Given the description of an element on the screen output the (x, y) to click on. 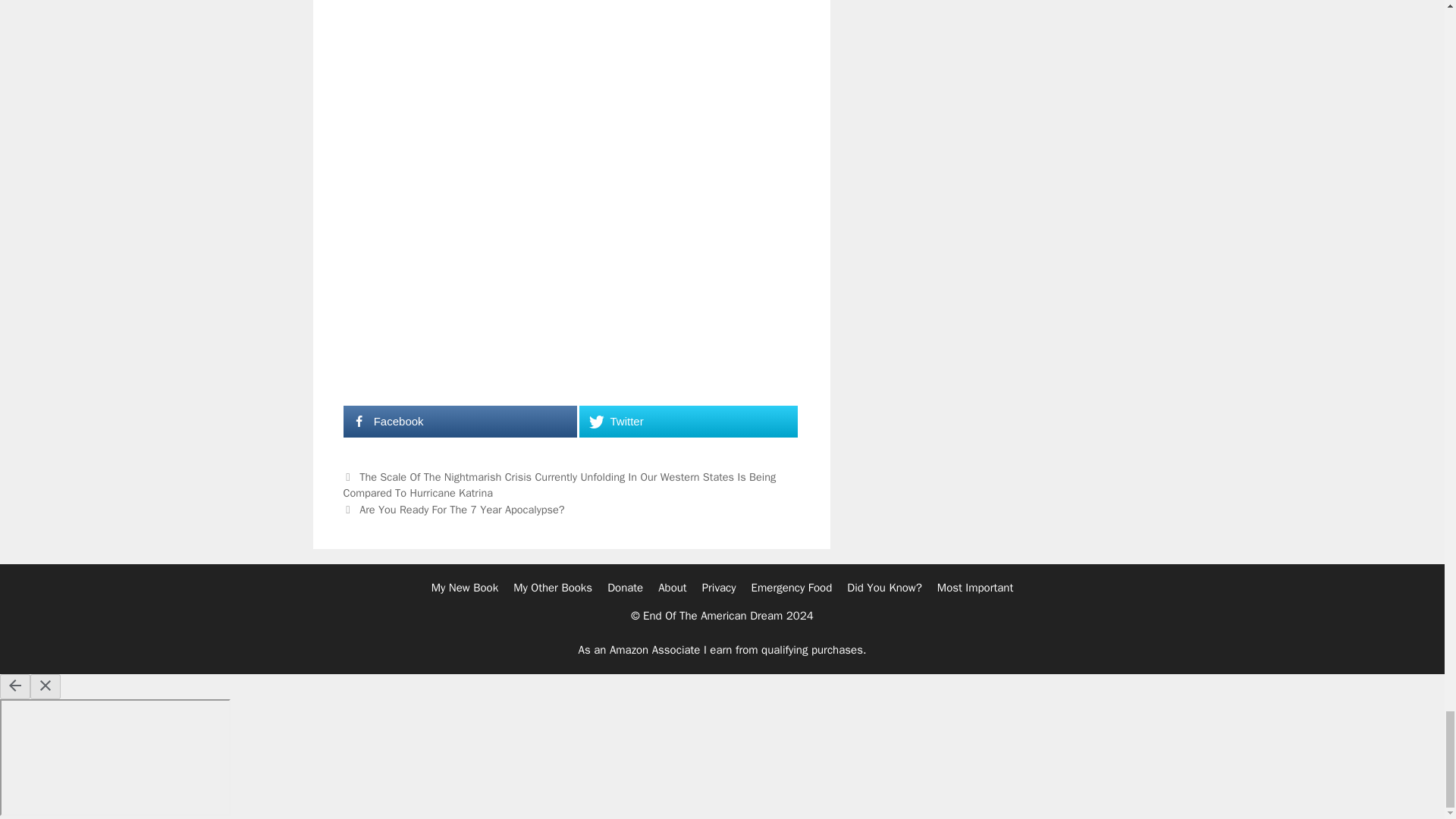
Facebook (459, 421)
Are You Ready For The 7 Year Apocalypse? (461, 509)
Twitter (687, 421)
